Given the description of an element on the screen output the (x, y) to click on. 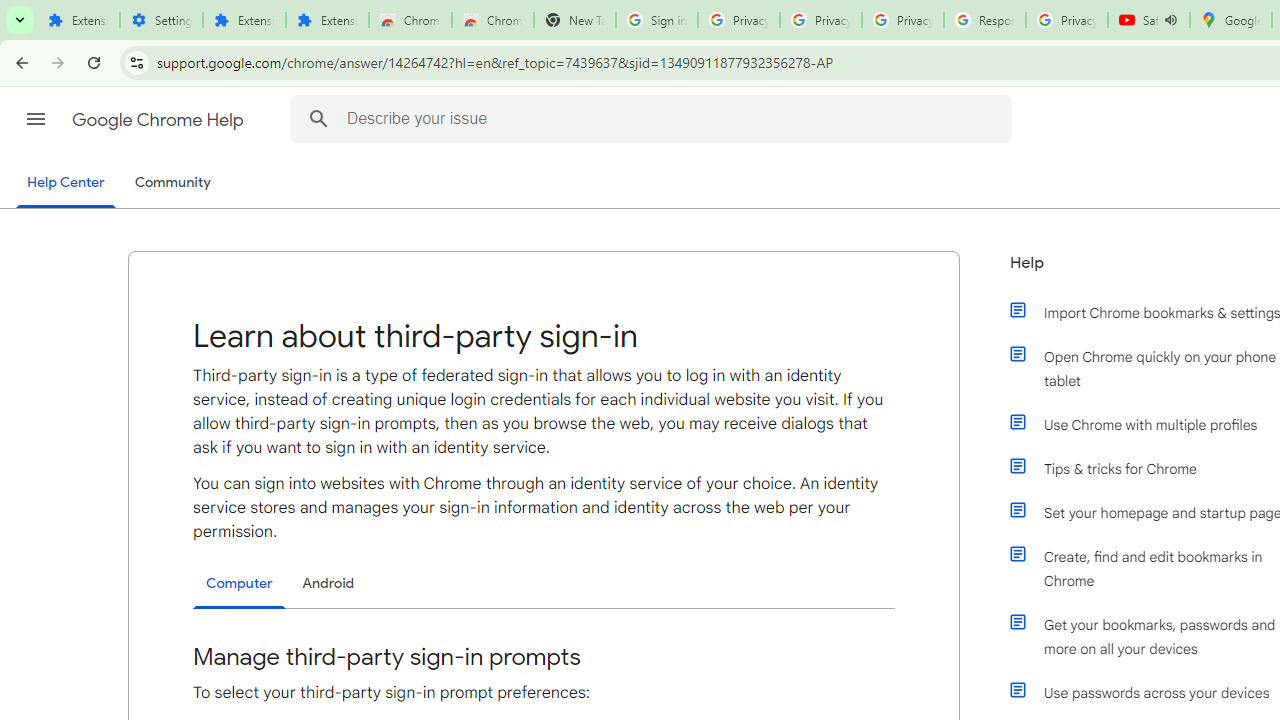
Chrome Web Store (409, 20)
Mute tab (1170, 20)
Google Chrome Help (159, 119)
Describe your issue (653, 118)
Main menu (35, 119)
New Tab (574, 20)
Extensions (78, 20)
Help Center (65, 183)
